Given the description of an element on the screen output the (x, y) to click on. 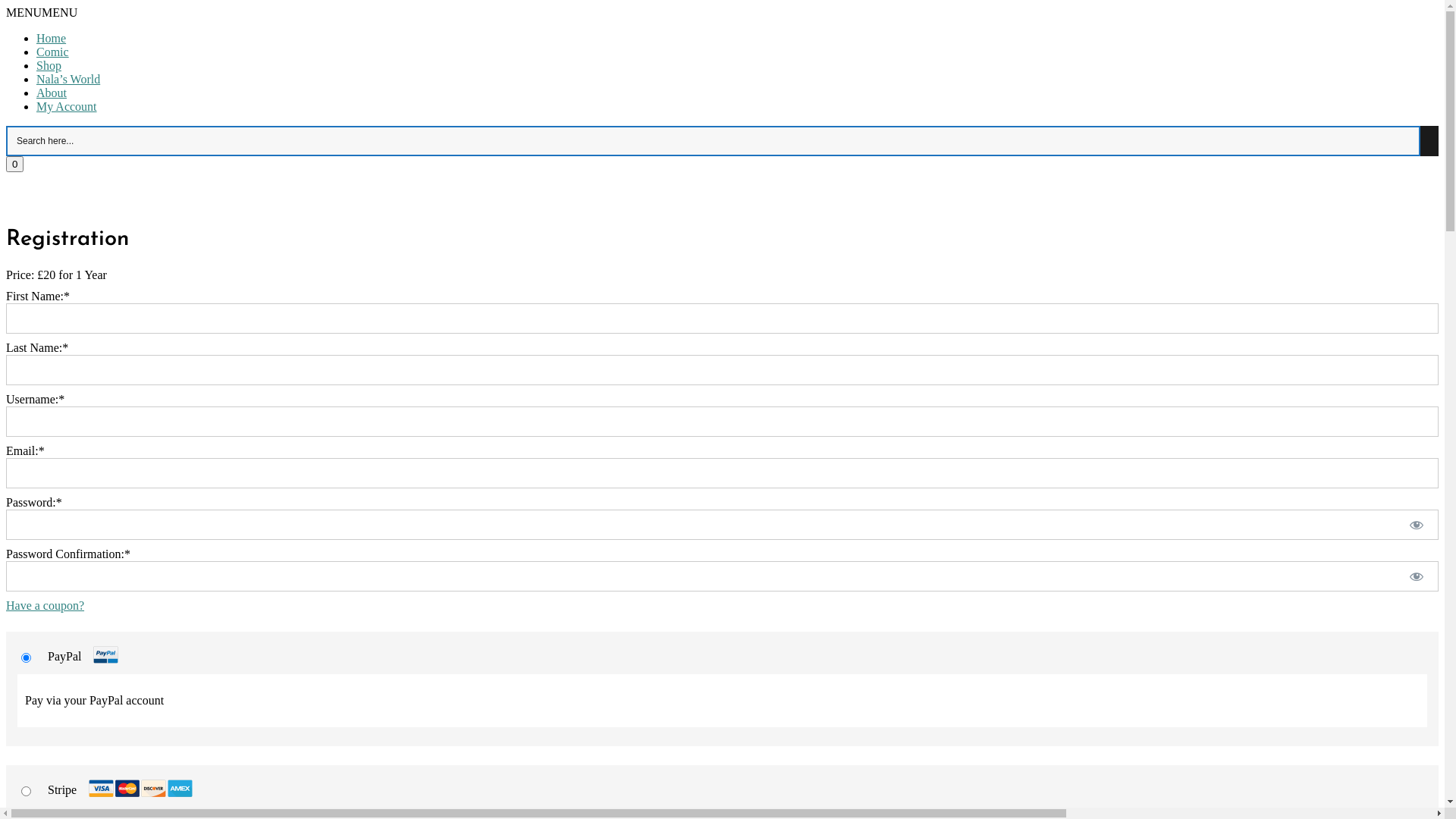
Shop Element type: text (48, 65)
Comic Element type: text (52, 51)
About Element type: text (51, 92)
Home Element type: text (50, 37)
Have a coupon? Element type: text (45, 605)
0 Element type: text (14, 164)
My Account Element type: text (66, 106)
